Given the description of an element on the screen output the (x, y) to click on. 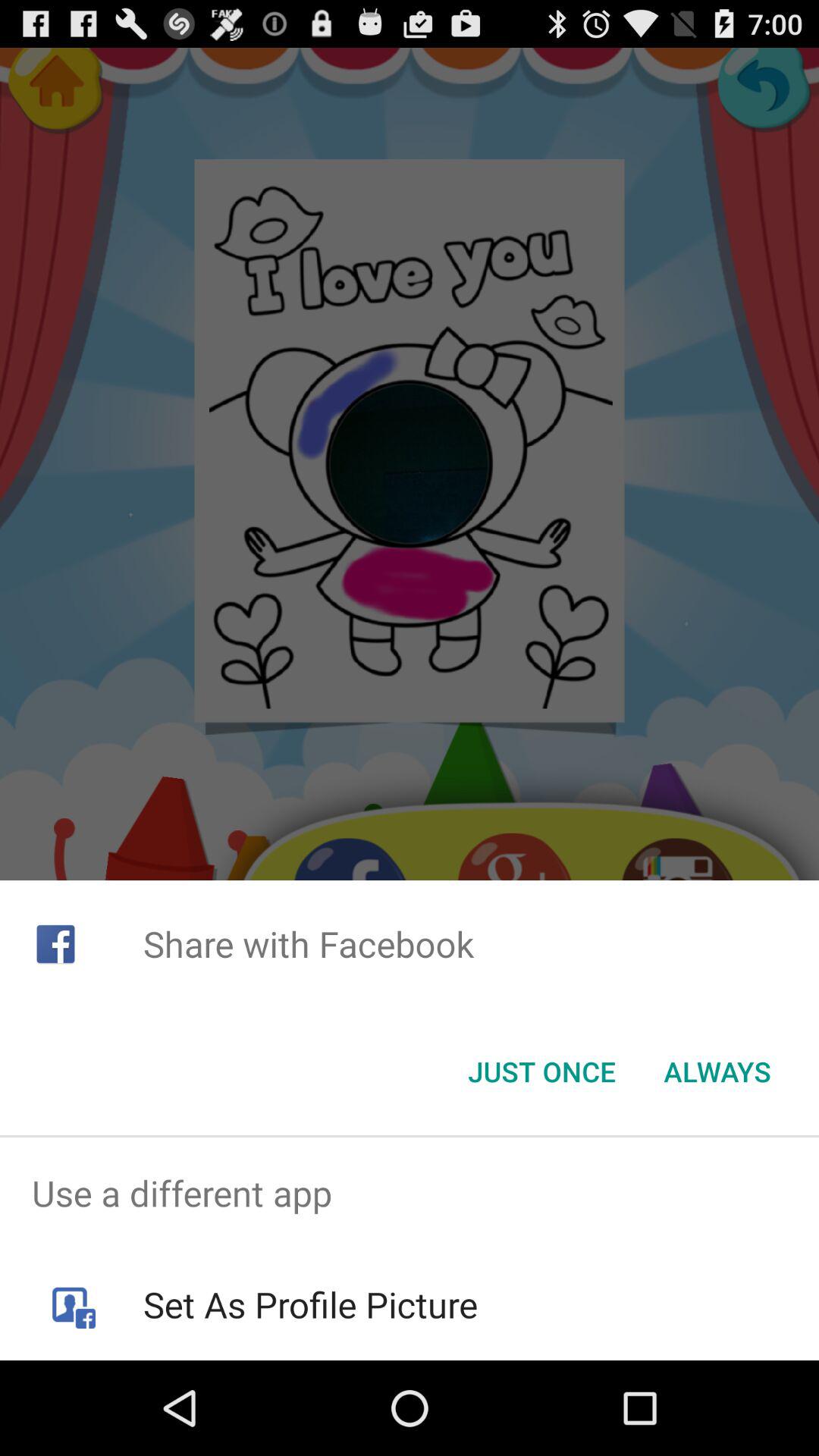
launch the item to the right of just once (717, 1071)
